Given the description of an element on the screen output the (x, y) to click on. 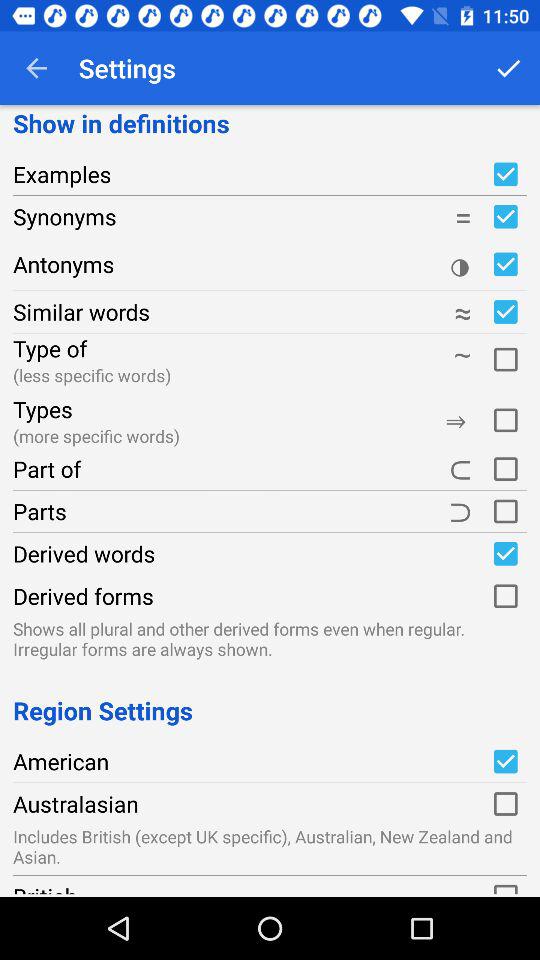
select for option (505, 356)
